Given the description of an element on the screen output the (x, y) to click on. 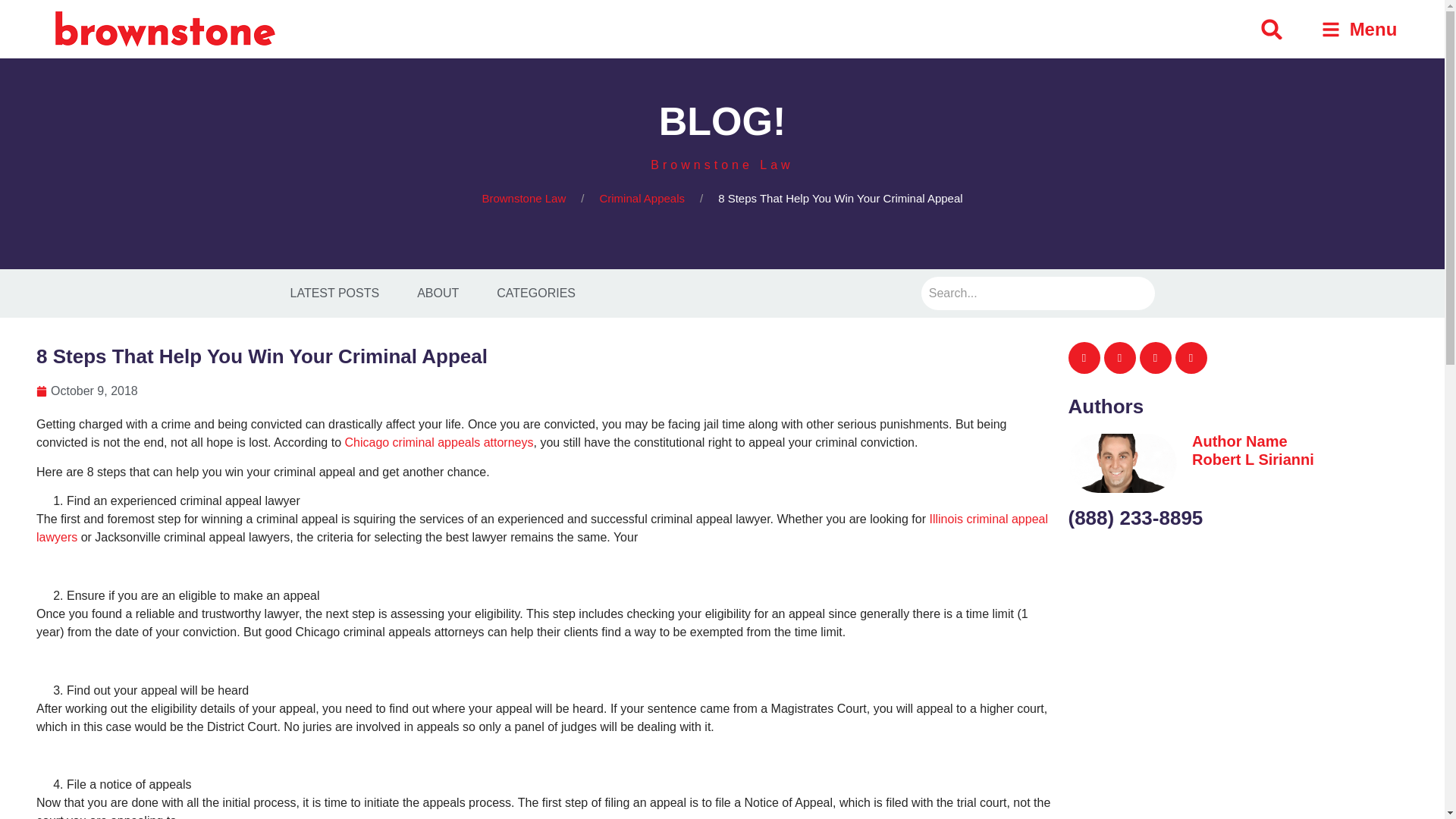
Search (1037, 293)
Menu (1358, 26)
